Given the description of an element on the screen output the (x, y) to click on. 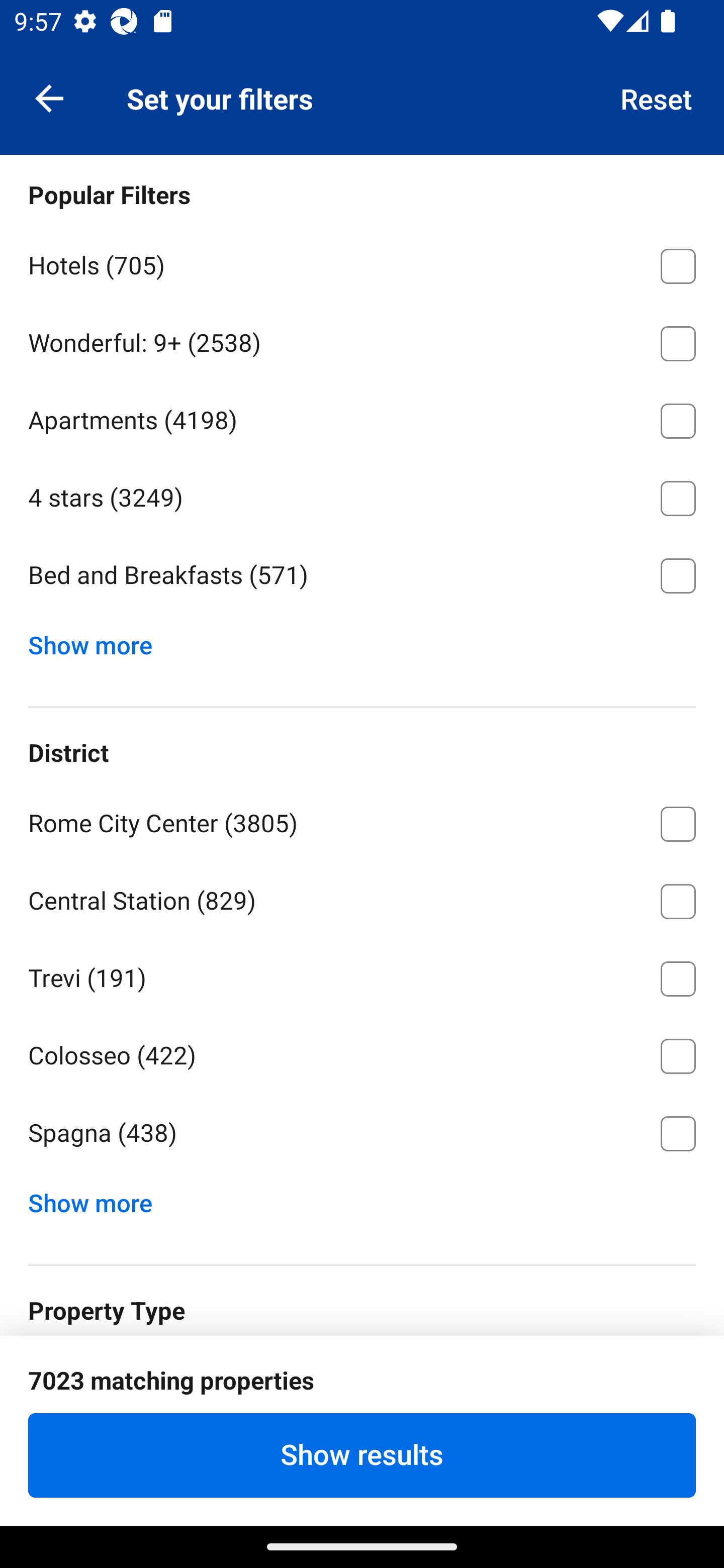
Navigate up (49, 97)
Reset (656, 97)
Hotels ⁦(705) (361, 262)
Wonderful: 9+ ⁦(2538) (361, 340)
Apartments ⁦(4198) (361, 417)
4 stars ⁦(3249) (361, 494)
Bed and Breakfasts ⁦(571) (361, 575)
Show more (97, 640)
Rome City Center ⁦(3805) (361, 820)
Central Station ⁦(829) (361, 897)
Trevi ⁦(191) (361, 975)
Colosseo ⁦(422) (361, 1052)
Spagna ⁦(438) (361, 1133)
Show more (97, 1198)
Entire homes & apartments ⁦(4836) (361, 1378)
Show results (361, 1454)
